Given the description of an element on the screen output the (x, y) to click on. 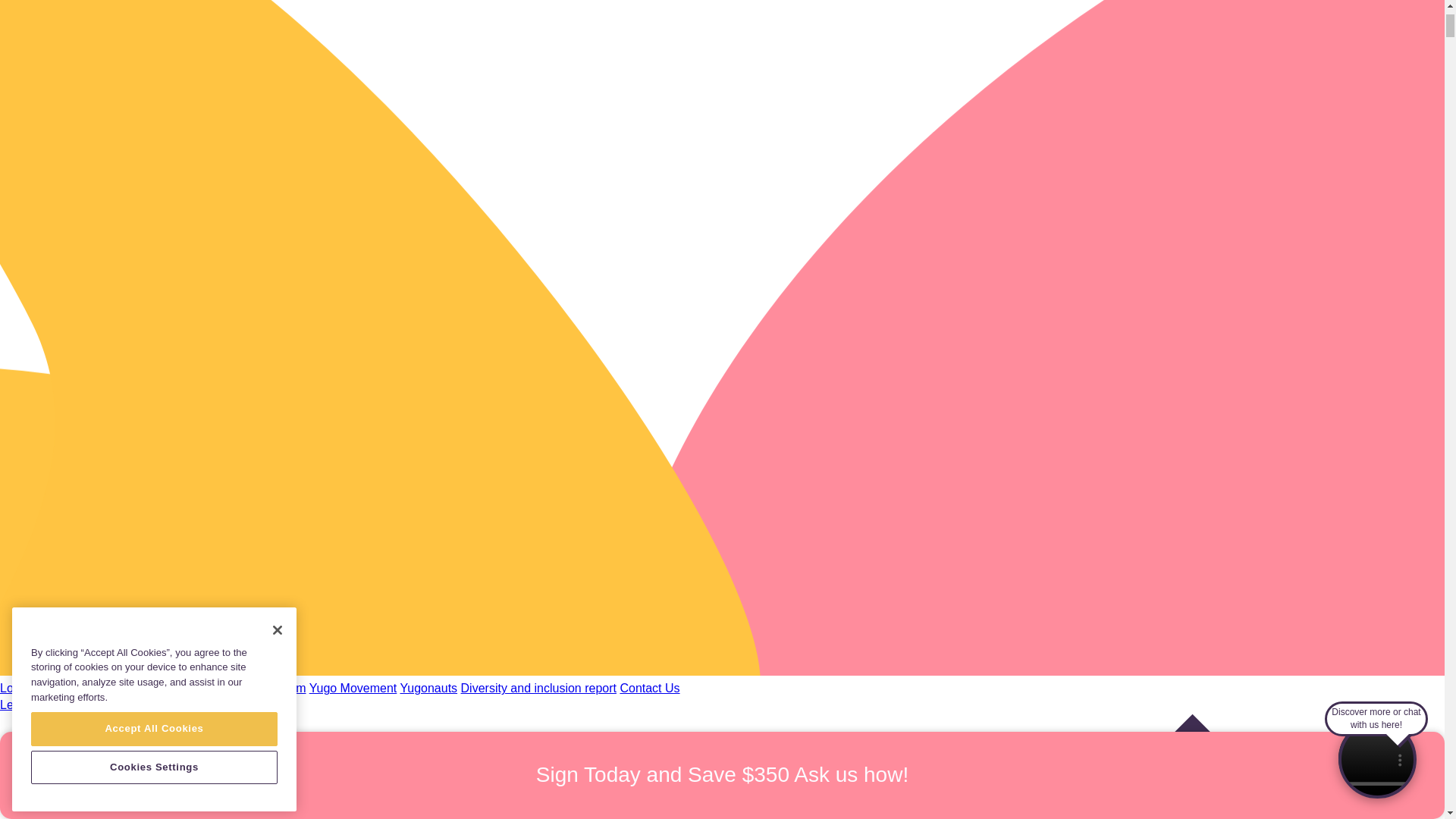
Yugonauts (427, 687)
Summer Stays (196, 687)
Yugo Movement (352, 687)
Diversity and inclusion report (538, 687)
Locations (26, 687)
Life at Yugo (120, 687)
News Room (272, 687)
Contact Us (649, 687)
About (70, 687)
